Given the description of an element on the screen output the (x, y) to click on. 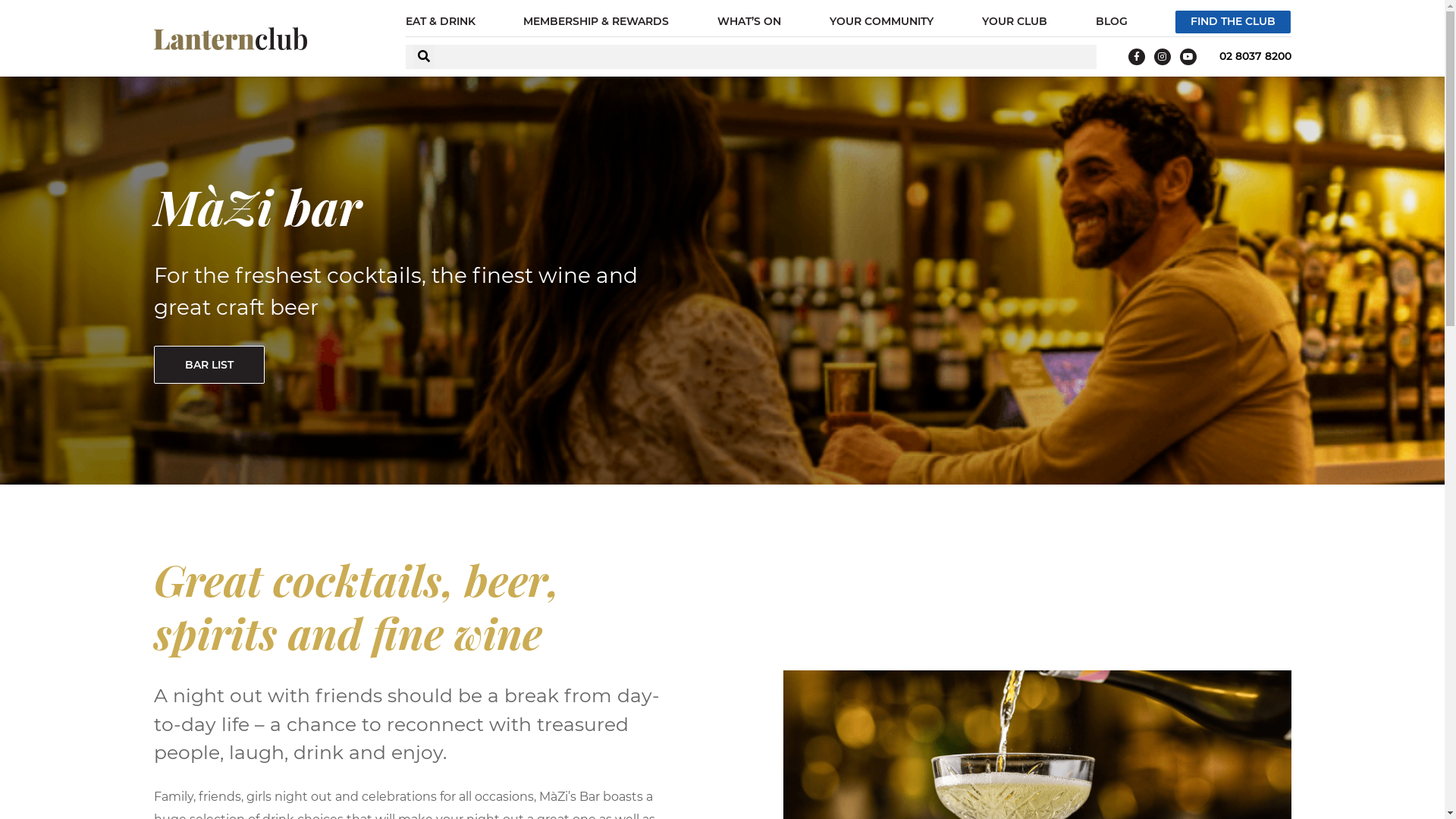
BLOG Element type: text (1115, 21)
MEMBERSHIP & REWARDS Element type: text (599, 21)
BAR LIST Element type: text (208, 364)
EAT & DRINK Element type: text (443, 21)
Search Element type: hover (764, 55)
YOUR COMMUNITY Element type: text (885, 21)
02 8037 8200 Element type: text (1255, 55)
FIND THE CLUB Element type: text (1232, 21)
YOUR CLUB Element type: text (1018, 21)
